Given the description of an element on the screen output the (x, y) to click on. 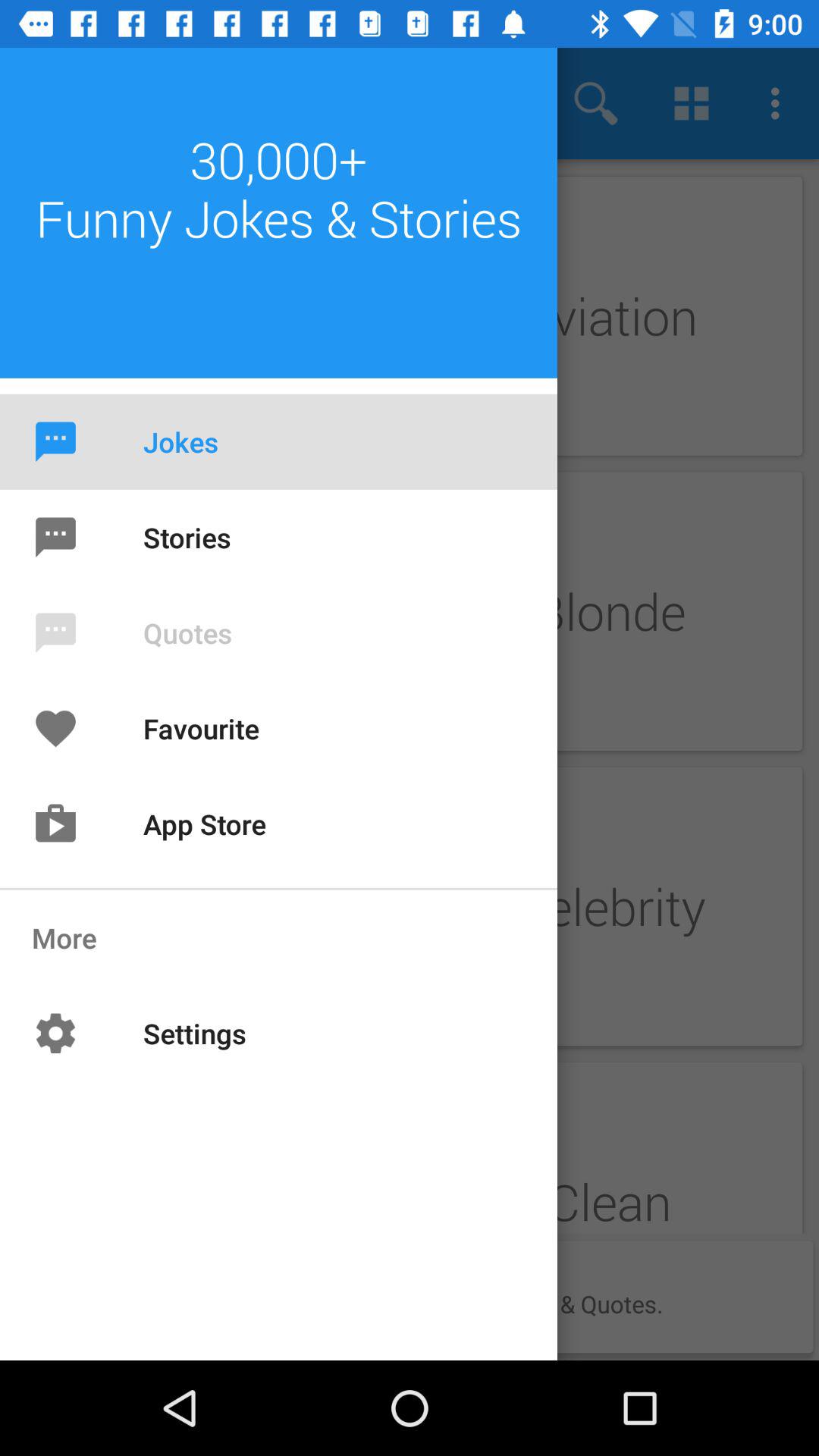
click on the last 3 dots button on the top (779, 103)
